Given the description of an element on the screen output the (x, y) to click on. 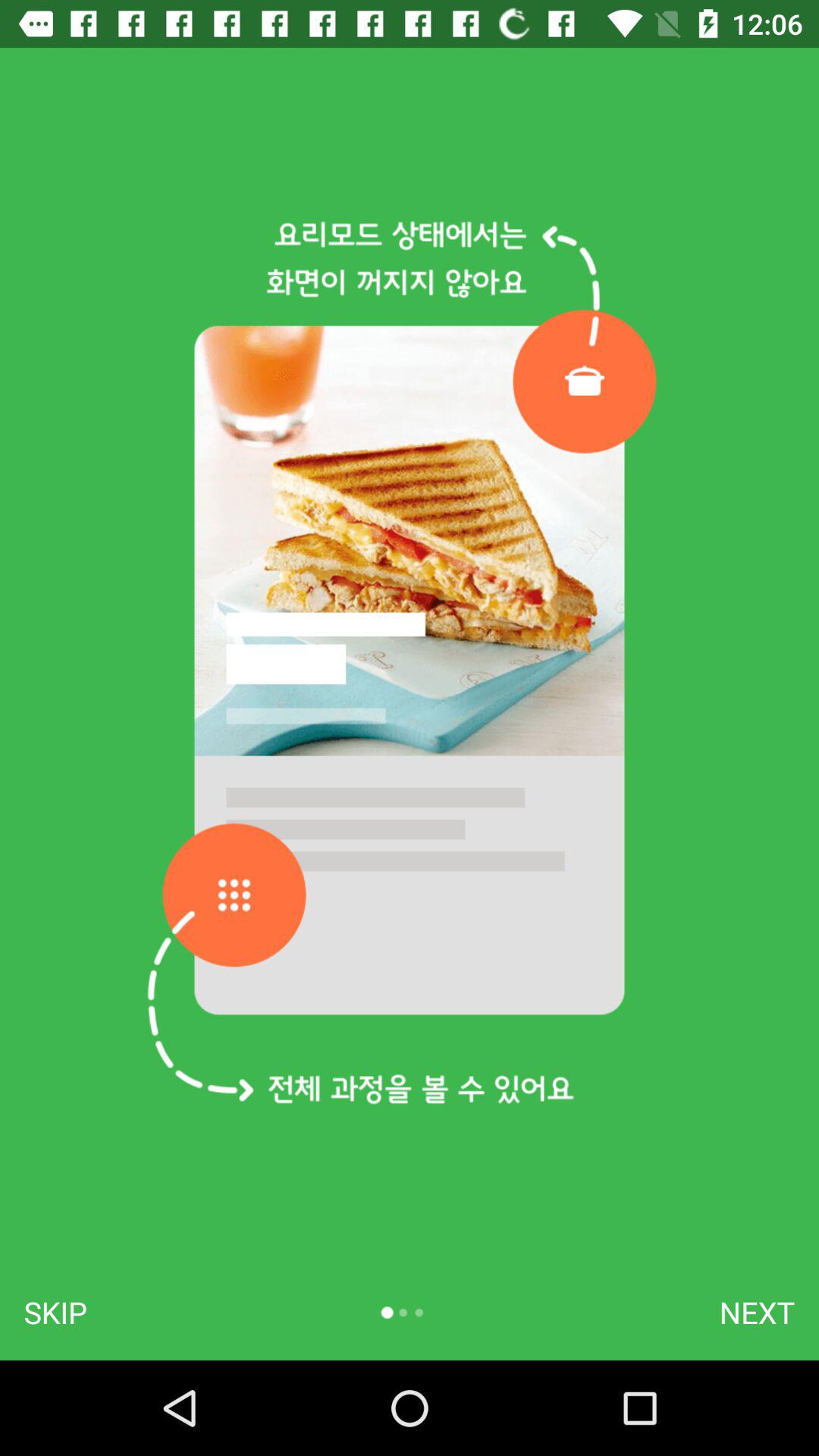
flip until the skip item (55, 1312)
